Given the description of an element on the screen output the (x, y) to click on. 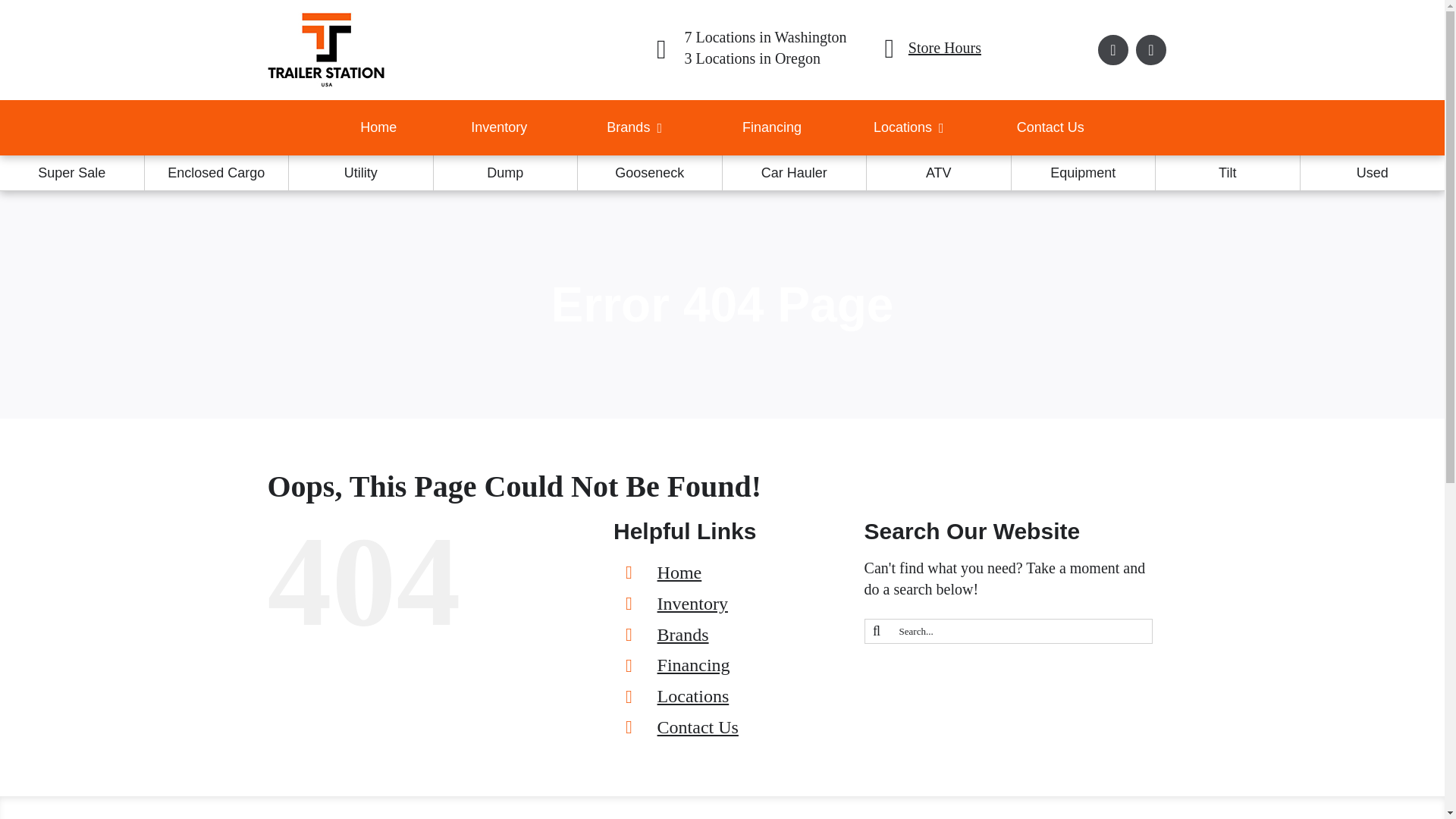
Home (907, 49)
Brands (378, 127)
Financing (634, 127)
Instagram (771, 127)
Store Hours (1150, 50)
Contact Us (1002, 47)
Locations (1050, 127)
Inventory (908, 127)
Facebook (498, 127)
